Given the description of an element on the screen output the (x, y) to click on. 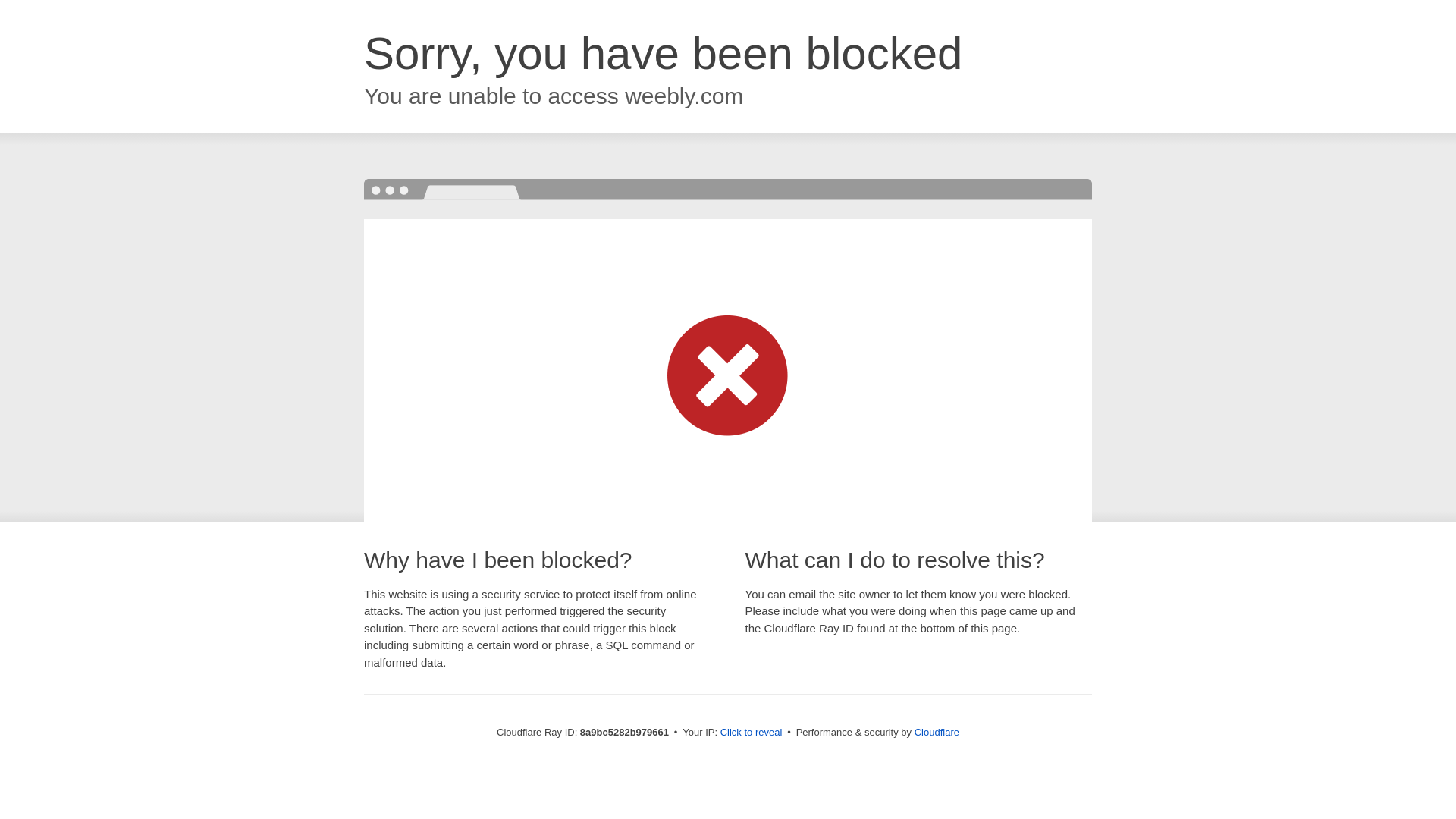
Cloudflare (936, 731)
Click to reveal (751, 732)
